Given the description of an element on the screen output the (x, y) to click on. 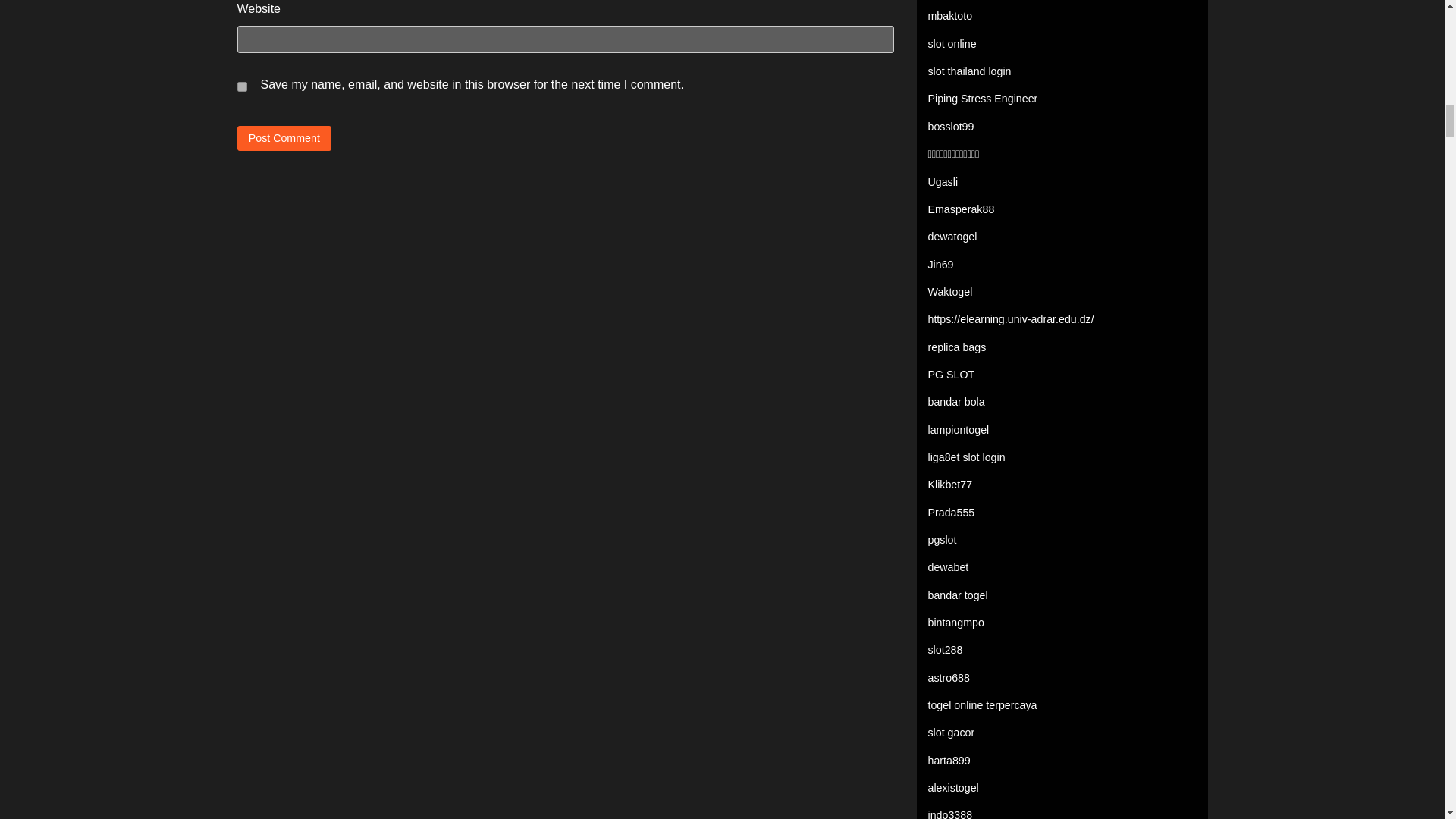
Post Comment (283, 138)
Post Comment (283, 138)
yes (240, 86)
